Given the description of an element on the screen output the (x, y) to click on. 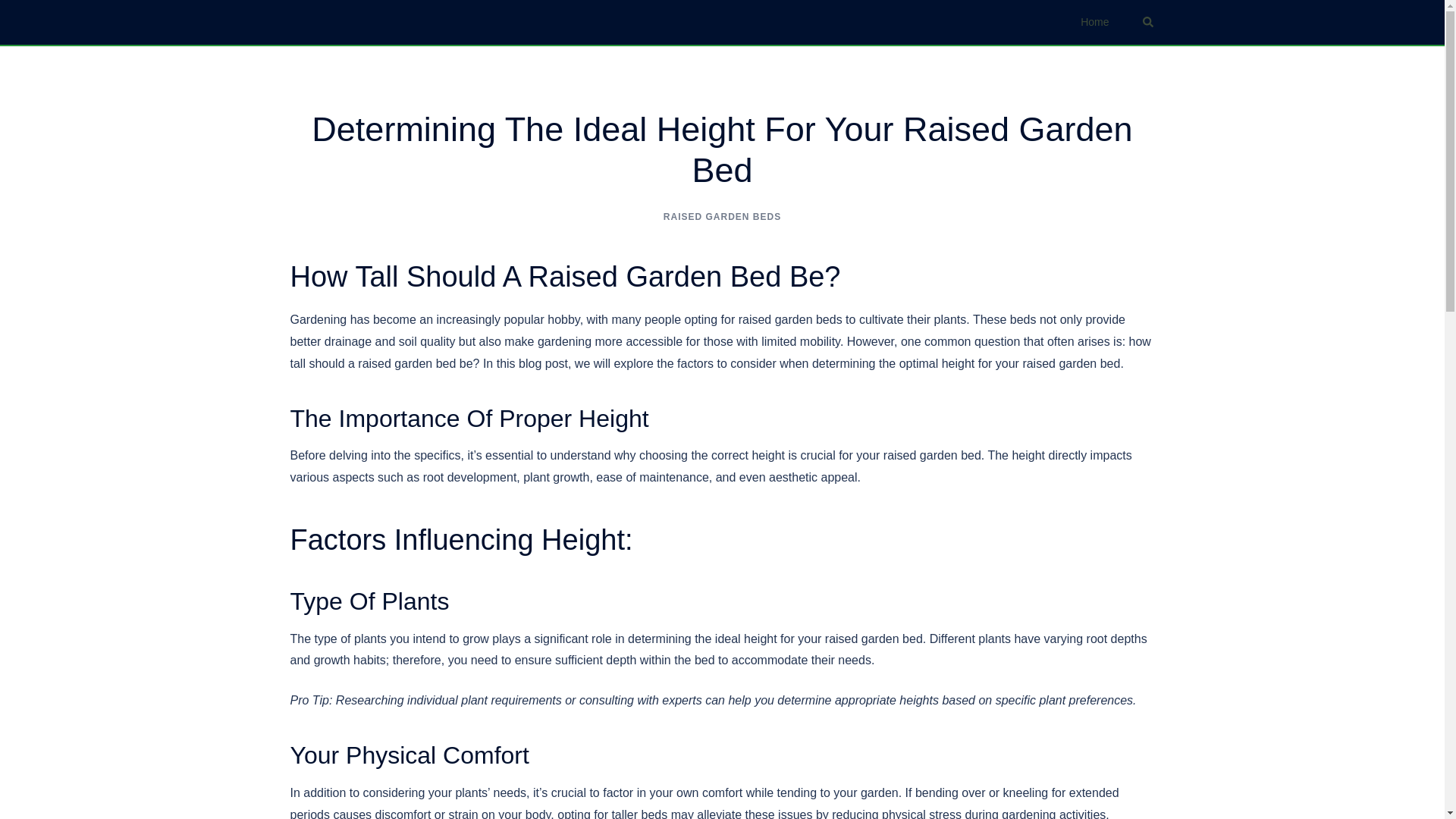
Search (1147, 21)
Earth Wild Gardens (348, 21)
Home (1094, 22)
RAISED GARDEN BEDS (721, 216)
